Given the description of an element on the screen output the (x, y) to click on. 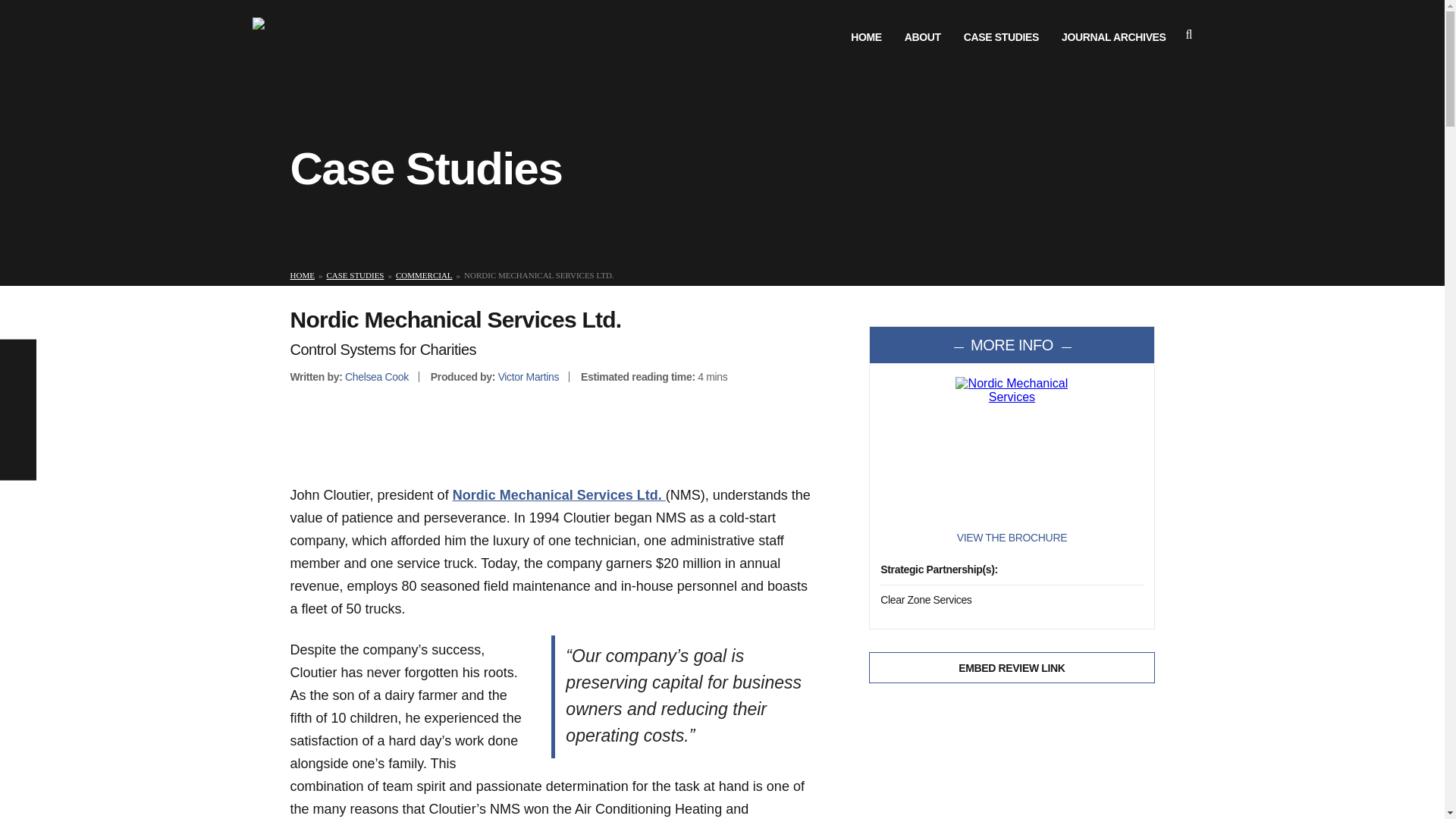
Chelsea Cook (377, 377)
Go to Case Studies. (355, 275)
ABOUT (922, 37)
Clear Zone Services (925, 599)
HOME (866, 37)
JOURNAL ARCHIVES (1113, 37)
CASE STUDIES (355, 275)
Nordic Mechanical Services Ltd. (558, 494)
Go to the Commercial Category archives. (424, 275)
EMBED REVIEW LINK (1011, 667)
CASE STUDIES (1001, 37)
COMMERCIAL (424, 275)
Go to Blueprint. (301, 275)
Victor Martins (528, 377)
VIEW THE BROCHURE (1011, 537)
